Given the description of an element on the screen output the (x, y) to click on. 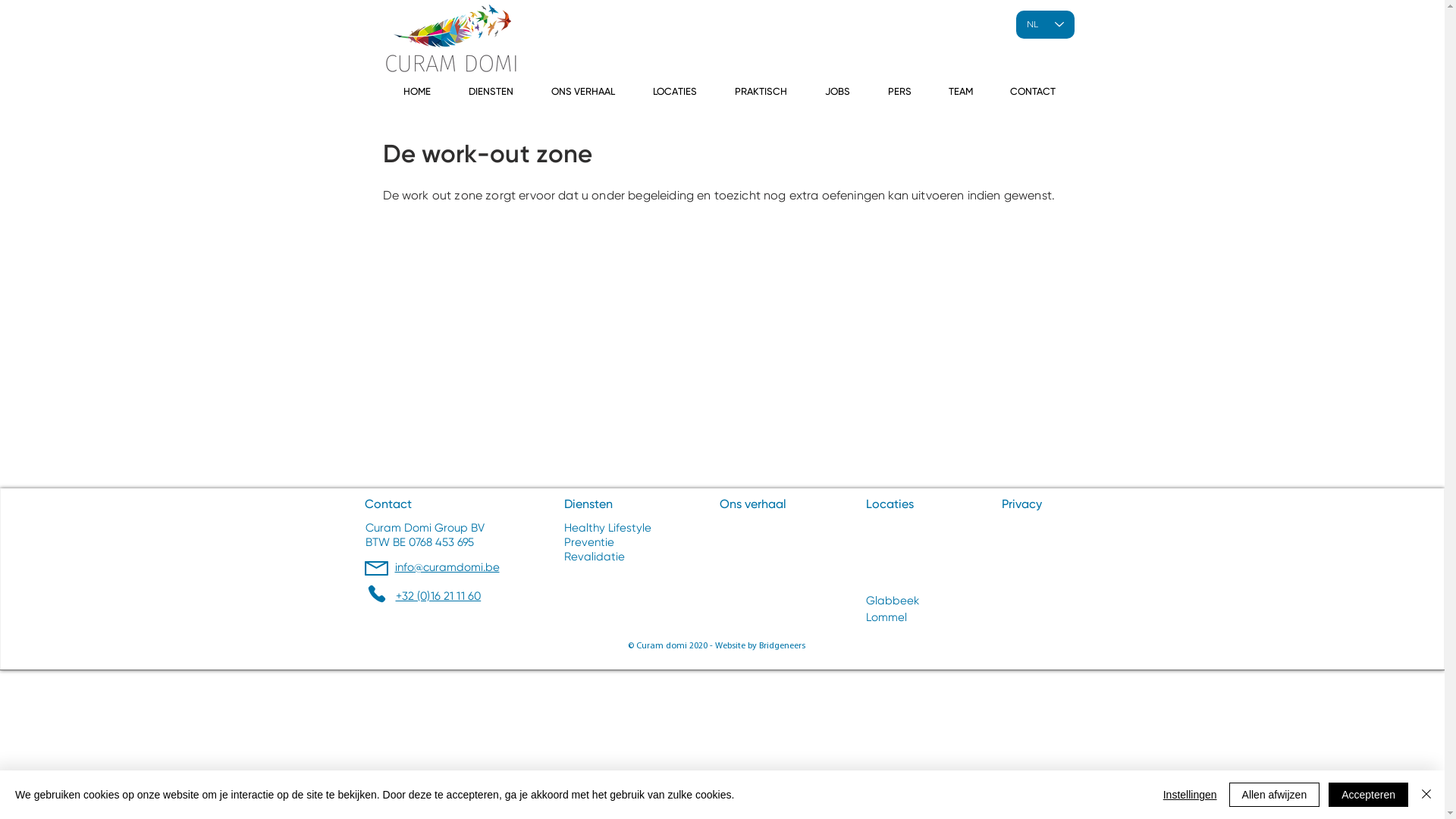
+32 (0)16 21 11 60 Element type: text (438, 596)
Preventie Element type: text (589, 543)
Diensten Element type: text (588, 504)
PERS Element type: text (899, 92)
Glabbeek  Element type: text (894, 600)
Accepteren Element type: text (1368, 794)
Healthy Lifestyle  Element type: text (609, 528)
ONS VERHAAL Element type: text (582, 92)
Locaties Element type: text (889, 504)
DIENSTEN Element type: text (489, 92)
Ons verhaal Element type: text (751, 504)
Allen afwijzen Element type: text (1274, 794)
LOCATIES Element type: text (674, 92)
PRAKTISCH Element type: text (760, 92)
info@curamdomi.be Element type: text (446, 568)
Lommel Element type: text (886, 617)
Privacy Element type: text (1021, 504)
CONTACT Element type: text (1032, 92)
JOBS Element type: text (836, 92)
HOME Element type: text (415, 92)
TEAM Element type: text (960, 92)
Revalidatie  Element type: text (595, 557)
